Given the description of an element on the screen output the (x, y) to click on. 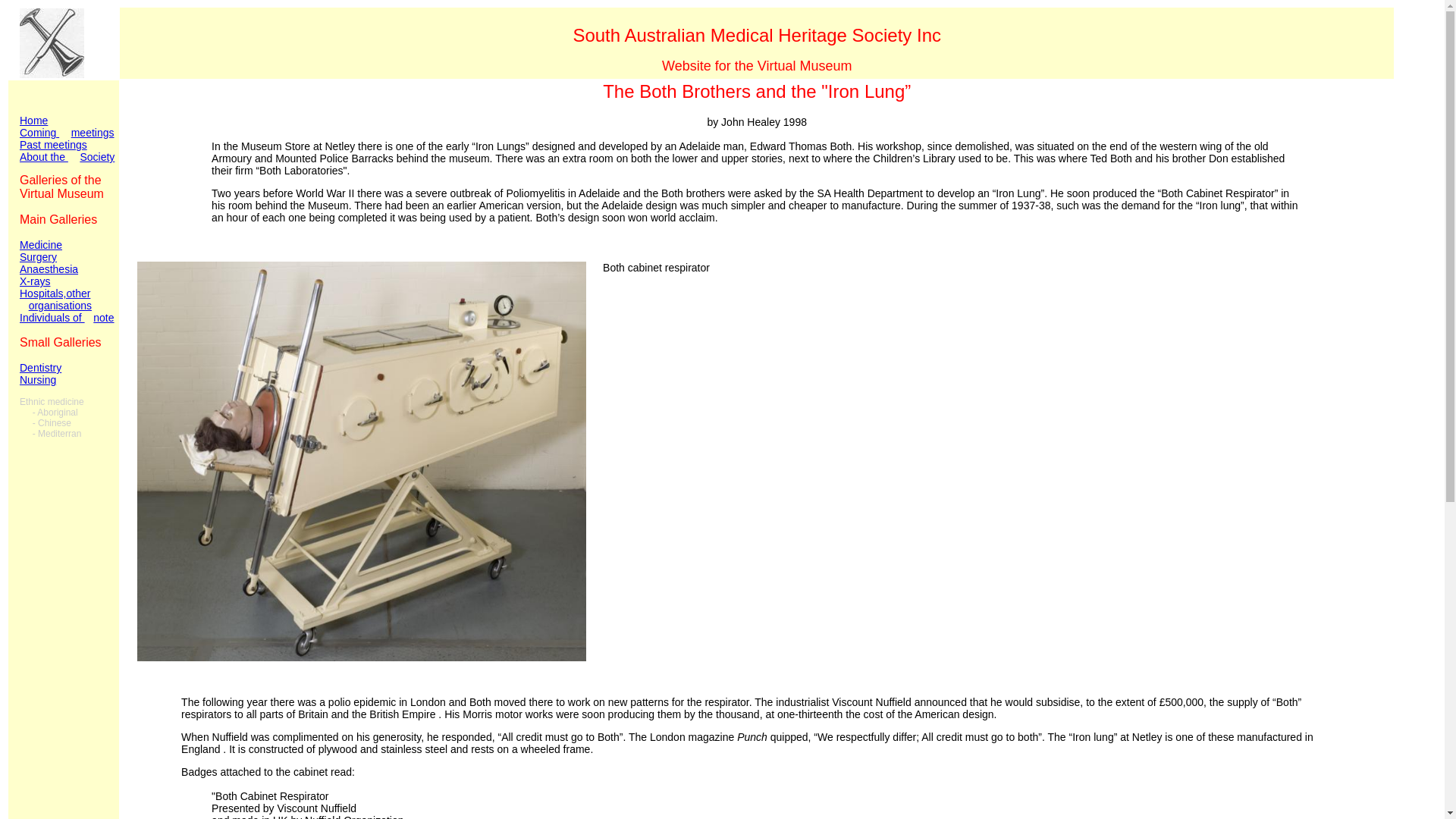
Society Element type: text (96, 156)
Anaesthesia Element type: text (48, 269)
Dentistry Element type: text (40, 367)
Hospitals,other Element type: text (54, 293)
note Element type: text (103, 317)
Home Element type: text (33, 120)
About the Element type: text (53, 162)
Individuals of Element type: text (51, 317)
X-rays Element type: text (34, 281)
Coming Element type: text (39, 138)
Nursing Element type: text (37, 379)
Medicine Element type: text (40, 244)
Past meetings Element type: text (66, 150)
meetings Element type: text (92, 132)
Surgery Element type: text (37, 257)
organisations Element type: text (59, 305)
